Given the description of an element on the screen output the (x, y) to click on. 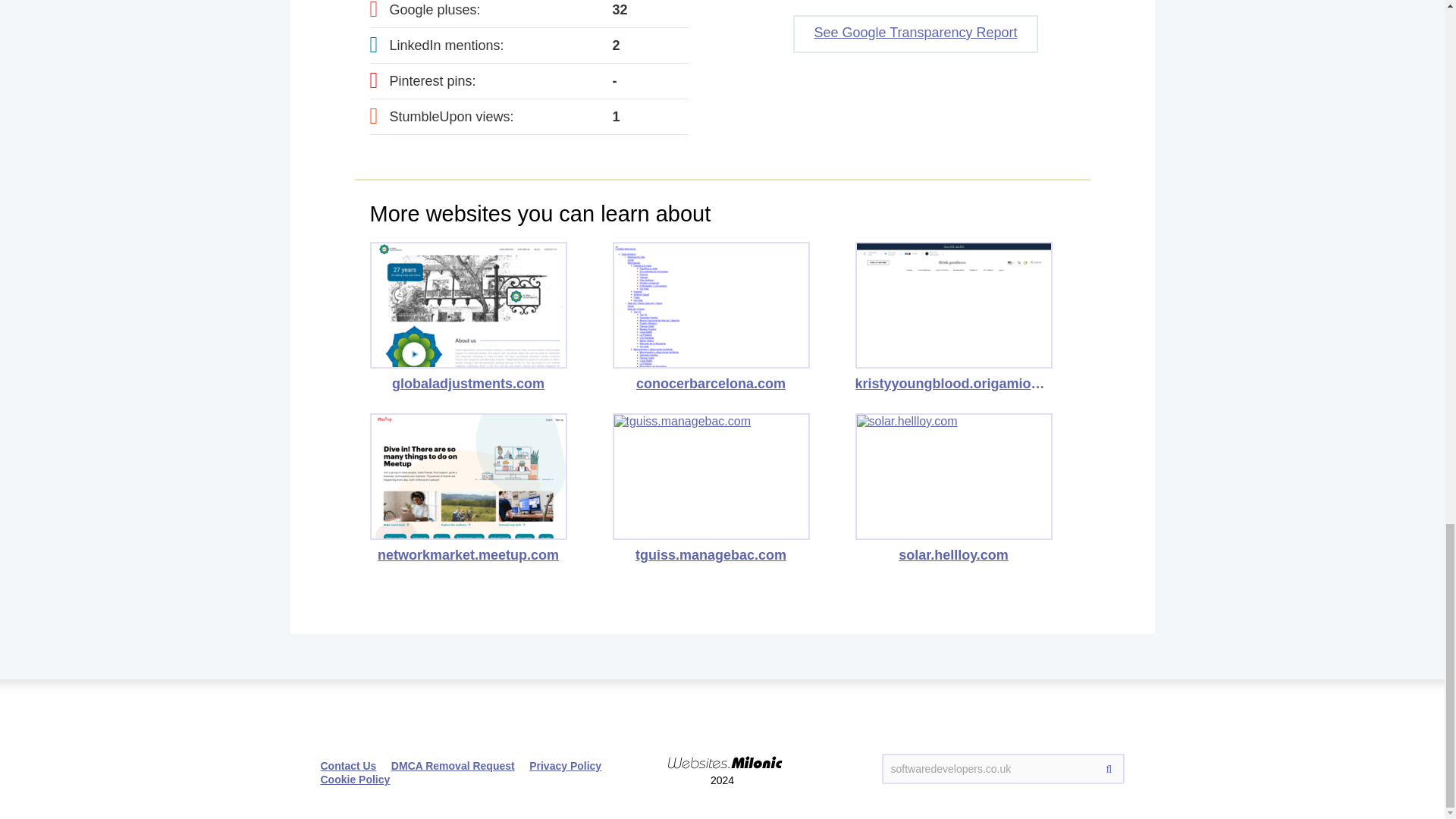
kristyyoungblood.origamiowl.com (954, 316)
Cookie Policy (355, 779)
conocerbarcelona.com (710, 316)
Privacy Policy (565, 766)
tguiss.managebac.com (710, 488)
solar.hellloy.com (954, 488)
Contact Us (347, 766)
globaladjustments.com (468, 316)
See Google Transparency Report (914, 34)
networkmarket.meetup.com (468, 488)
2024 (721, 750)
DMCA Removal Request (453, 766)
softwaredevelopers.co.uk (1002, 768)
